Given the description of an element on the screen output the (x, y) to click on. 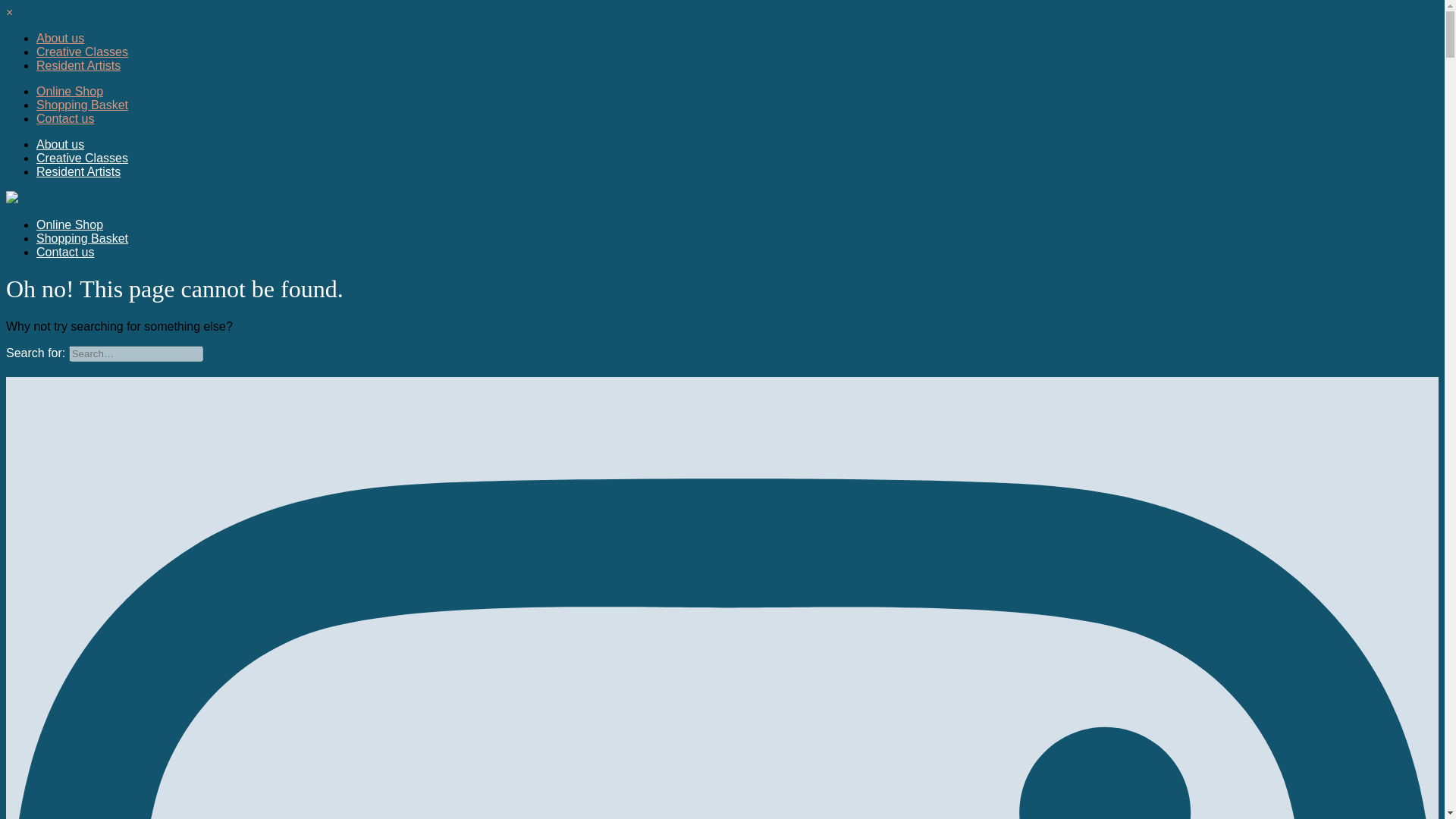
Contact us (65, 251)
Resident Artists (78, 171)
Online Shop (69, 224)
Creative Classes (82, 51)
About us (60, 144)
Resident Artists (78, 65)
Shopping Basket (82, 237)
Creative Classes (82, 157)
About us (60, 38)
Shopping Basket (82, 104)
Contact us (65, 118)
Online Shop (69, 91)
